Given the description of an element on the screen output the (x, y) to click on. 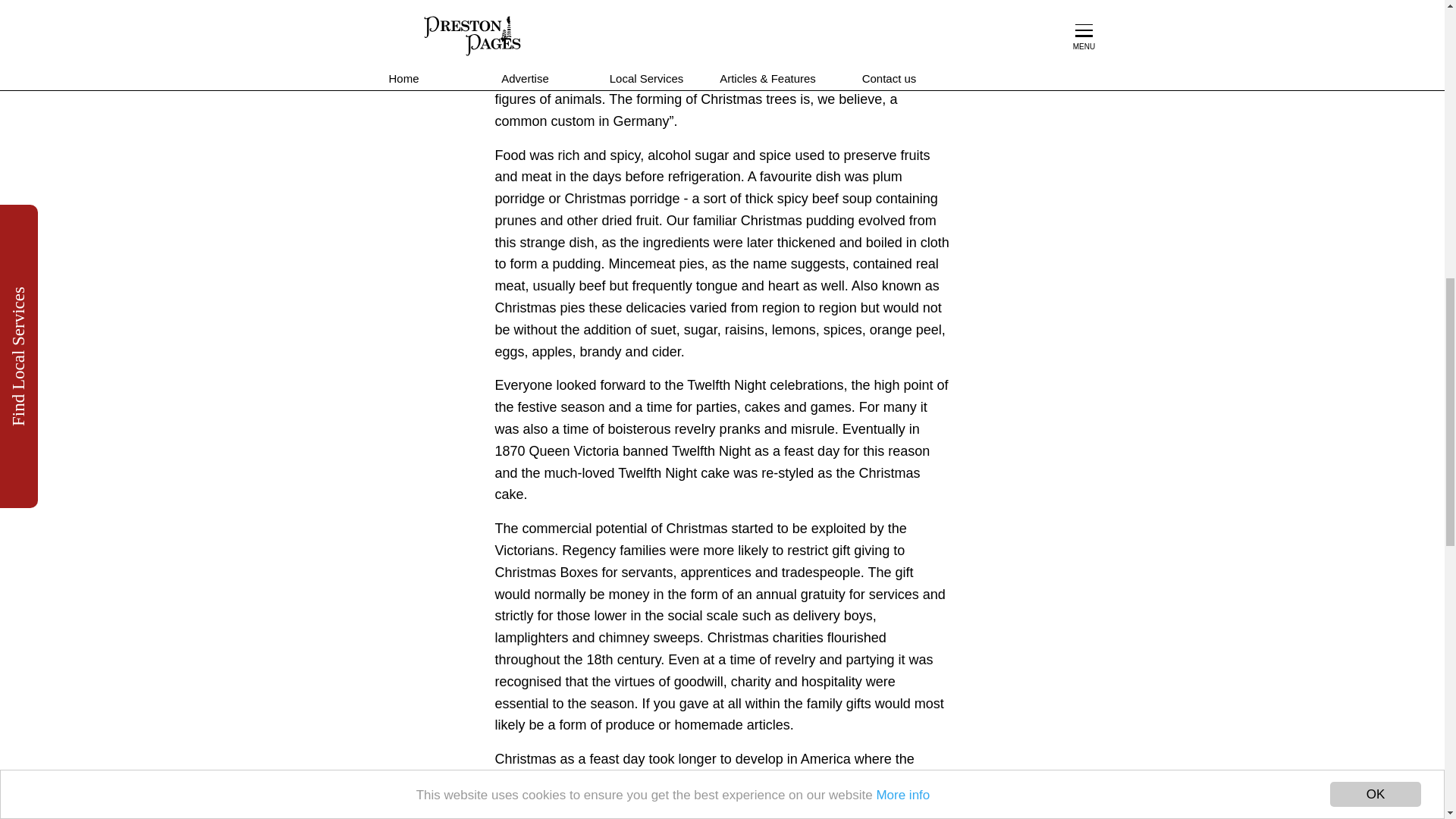
More info (903, 14)
OK (1375, 21)
